Given the description of an element on the screen output the (x, y) to click on. 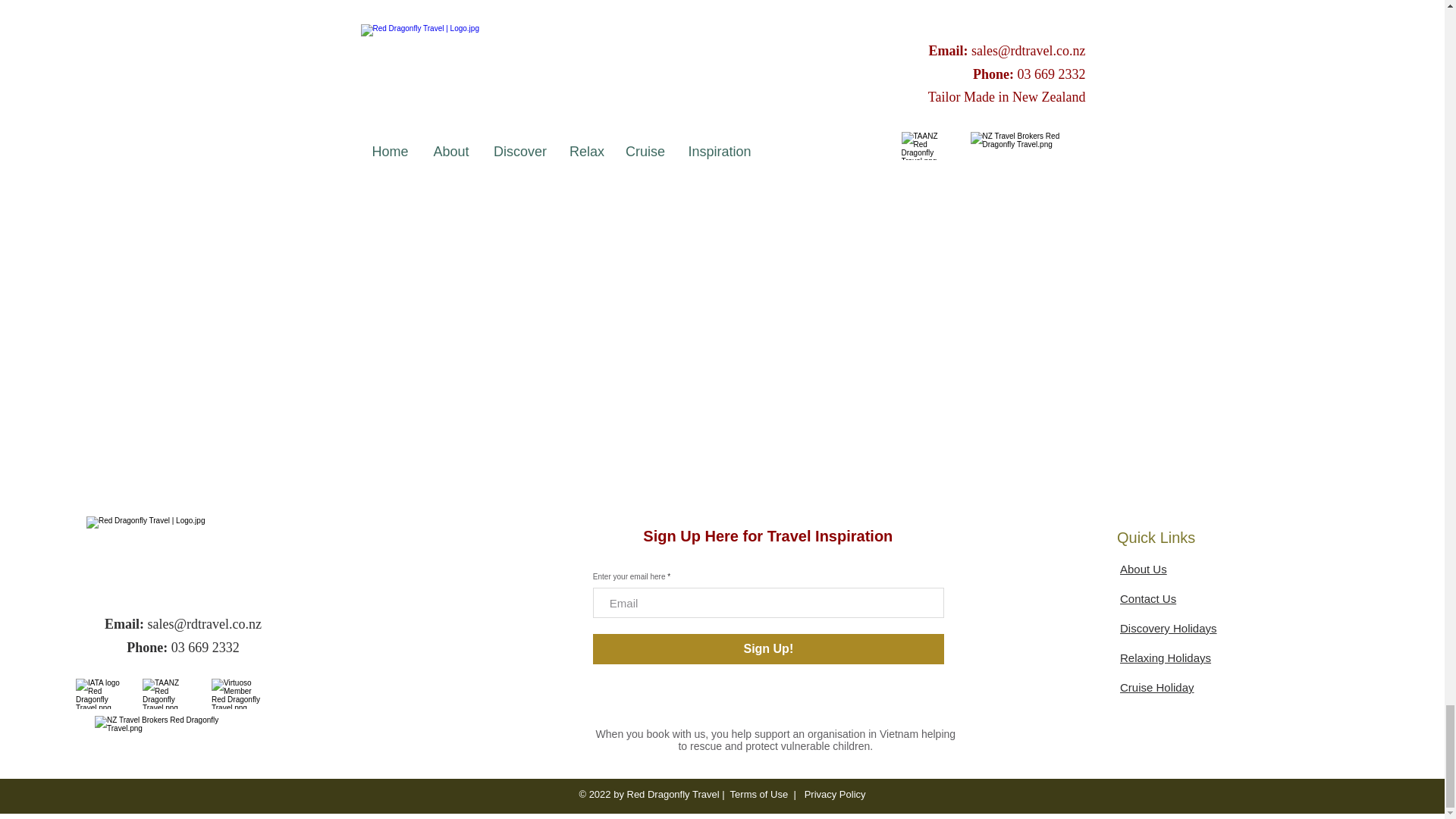
Sign Up! (767, 648)
Terms of Use (759, 794)
 Privacy Policy (834, 794)
Contact Us (1147, 598)
Relaxing Holidays (1165, 657)
About Us (1143, 568)
Discovery Holidays (1168, 627)
Cruise Holiday (1156, 686)
